Given the description of an element on the screen output the (x, y) to click on. 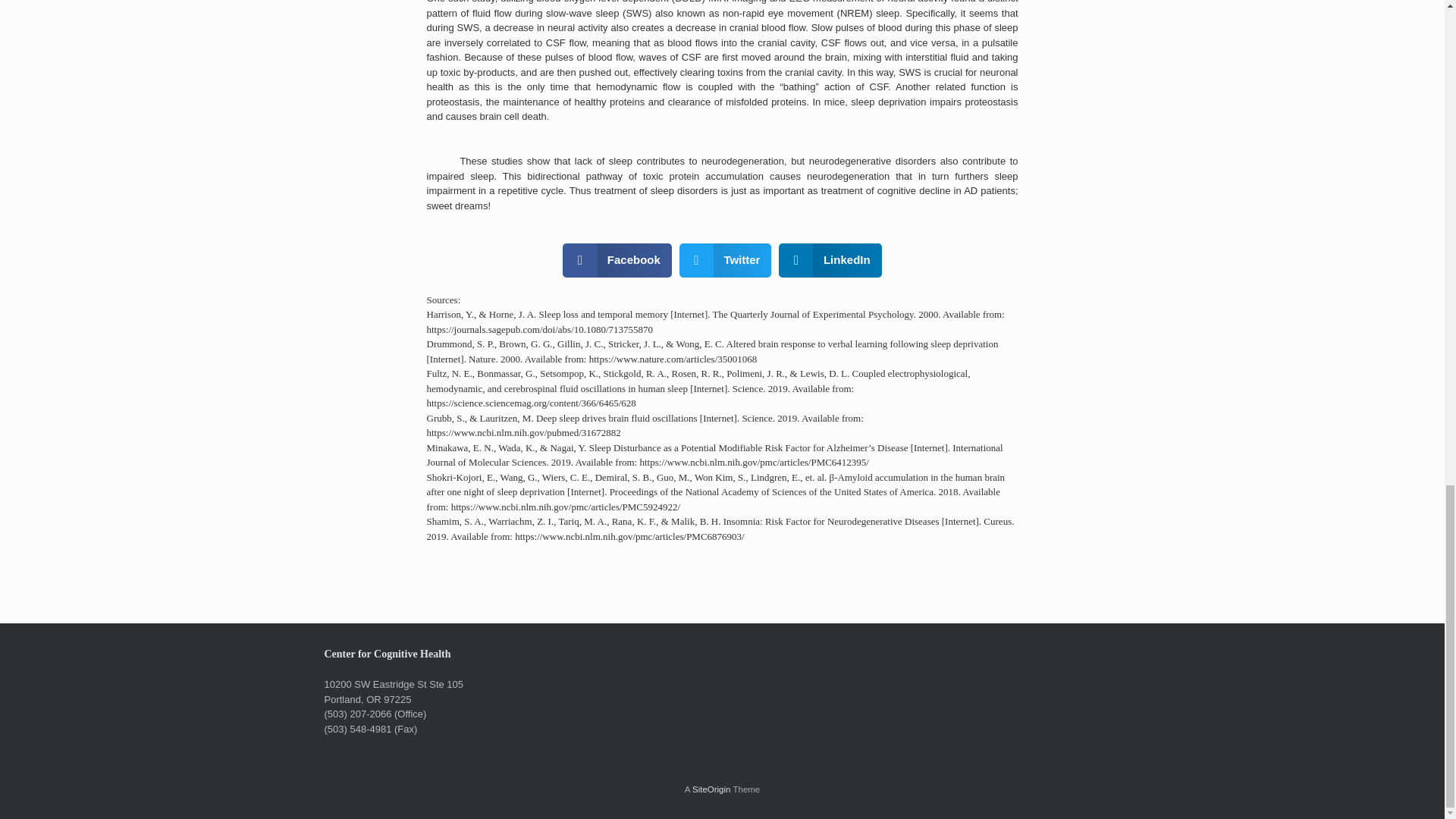
SiteOrigin (711, 788)
